Given the description of an element on the screen output the (x, y) to click on. 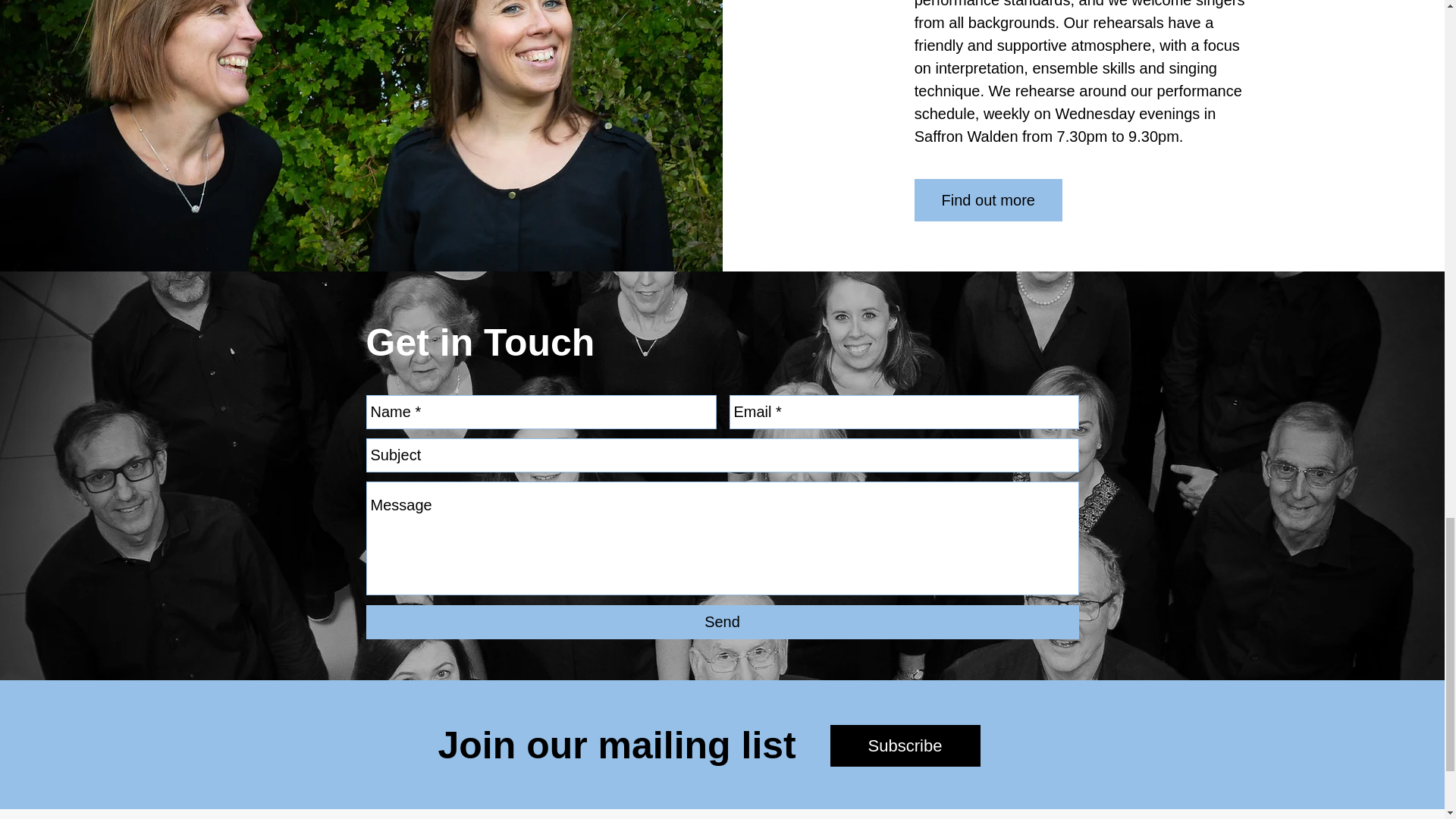
Subscribe (904, 745)
Find out more (988, 200)
Send (721, 622)
